Given the description of an element on the screen output the (x, y) to click on. 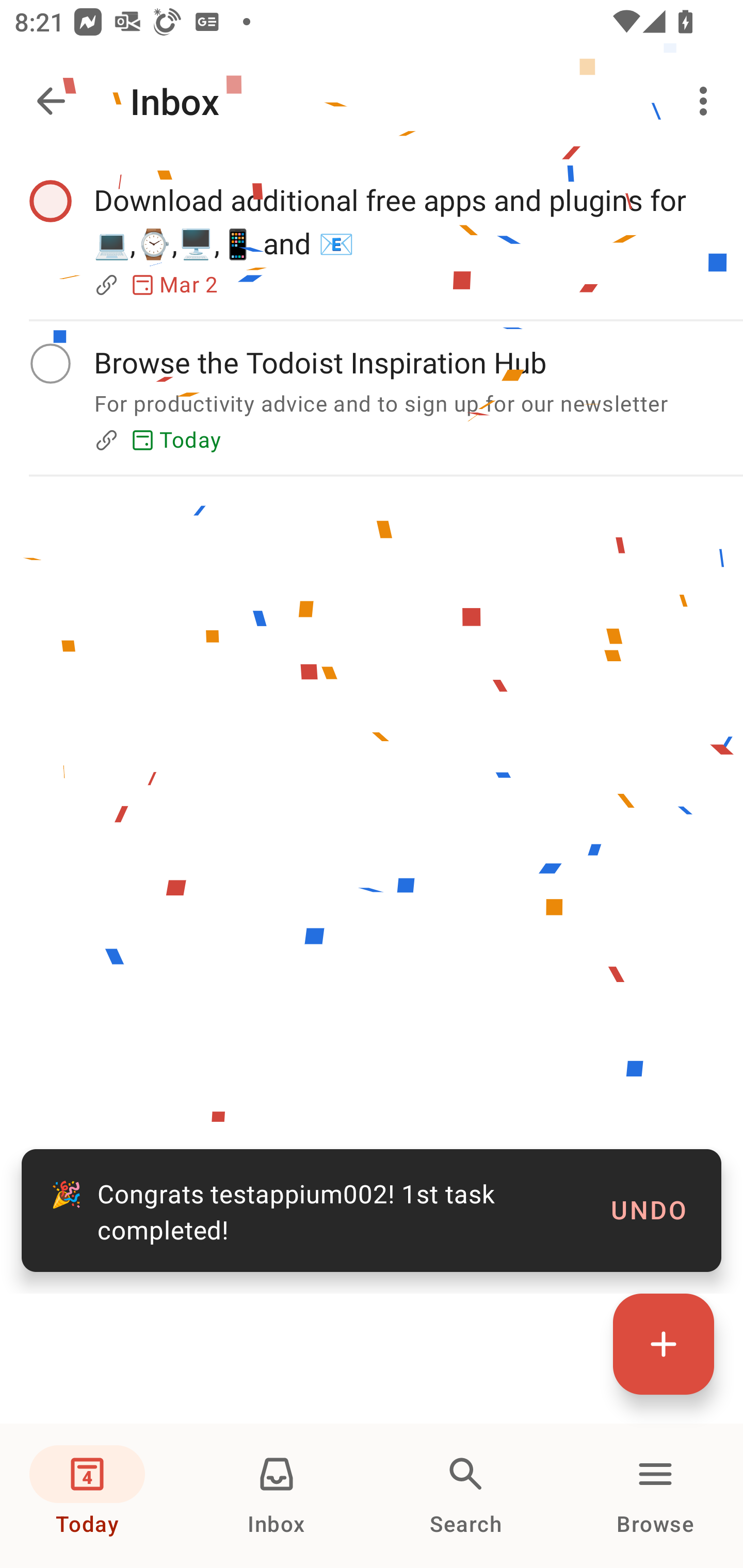
Navigate up Inbox More options (371, 100)
Navigate up (50, 101)
More options (706, 101)
Complete (50, 200)
Complete (50, 363)
UNDO (648, 1210)
Quick add (663, 1343)
Inbox (276, 1495)
Search (465, 1495)
Browse (655, 1495)
